Given the description of an element on the screen output the (x, y) to click on. 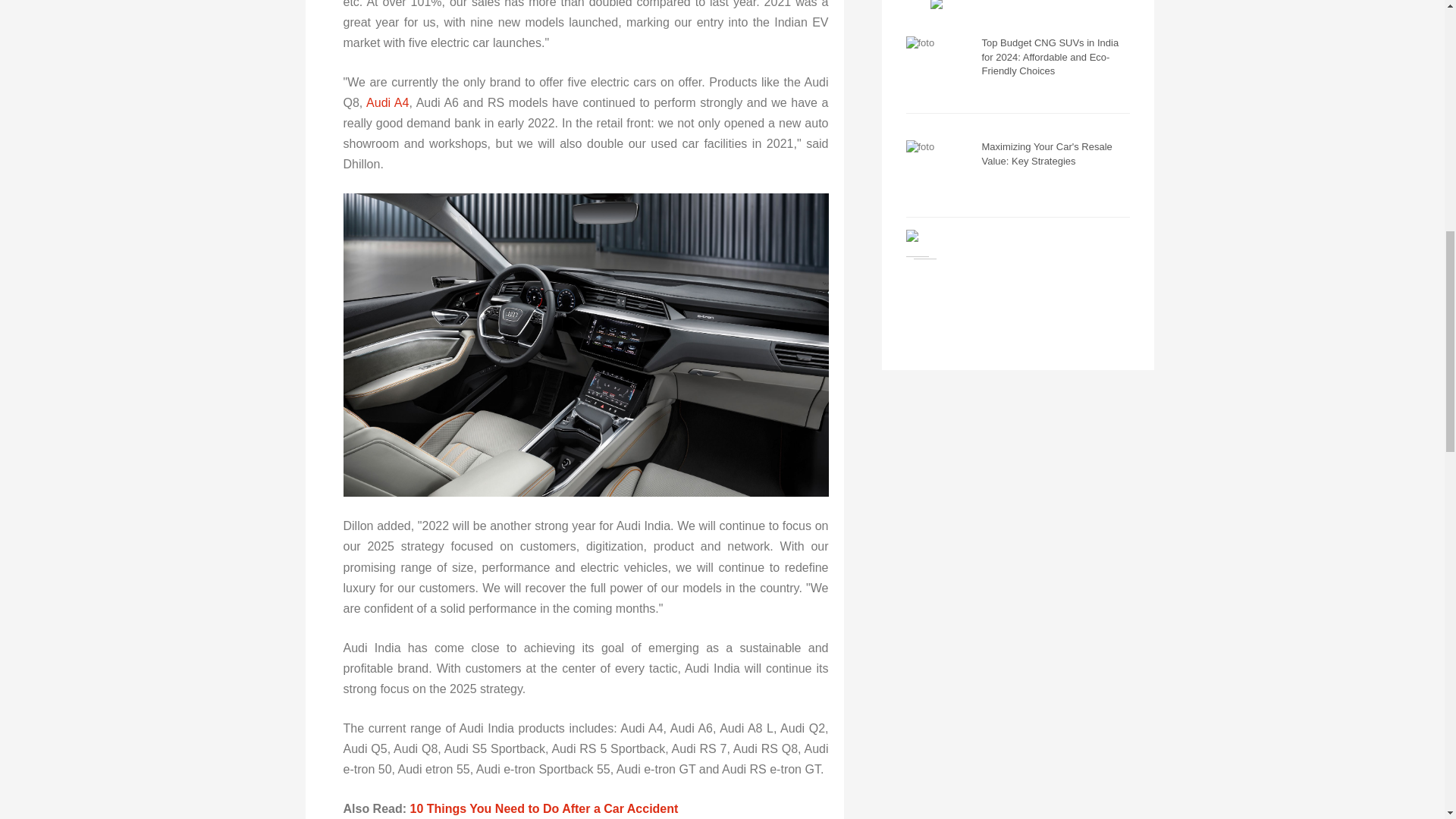
10 Things You Need to Do After a Car Accident  (545, 808)
Audi A4 (387, 102)
